Given the description of an element on the screen output the (x, y) to click on. 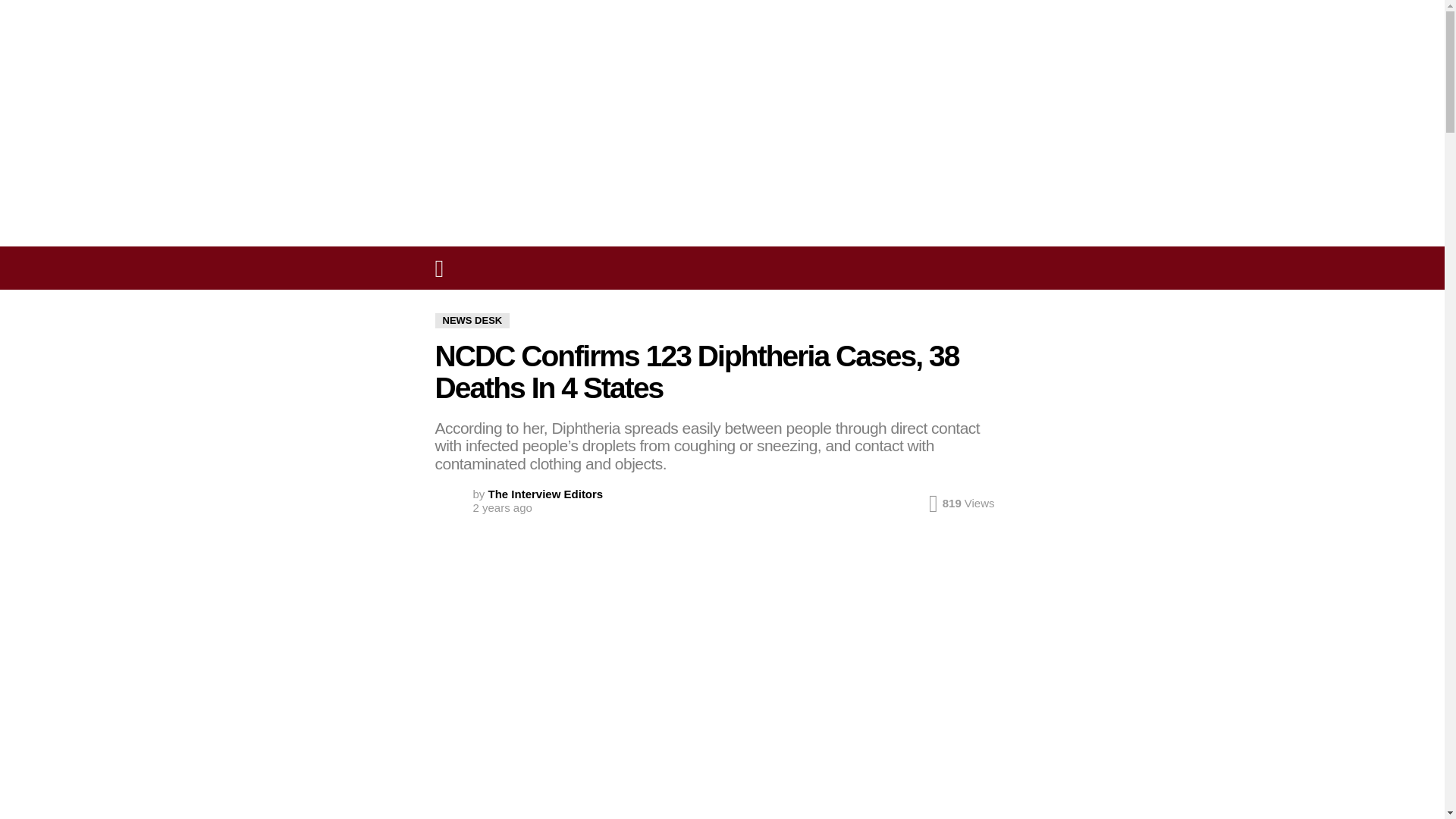
NEWS DESK (473, 320)
Posts by The Interview Editors (545, 493)
The Interview Editors (545, 493)
